Given the description of an element on the screen output the (x, y) to click on. 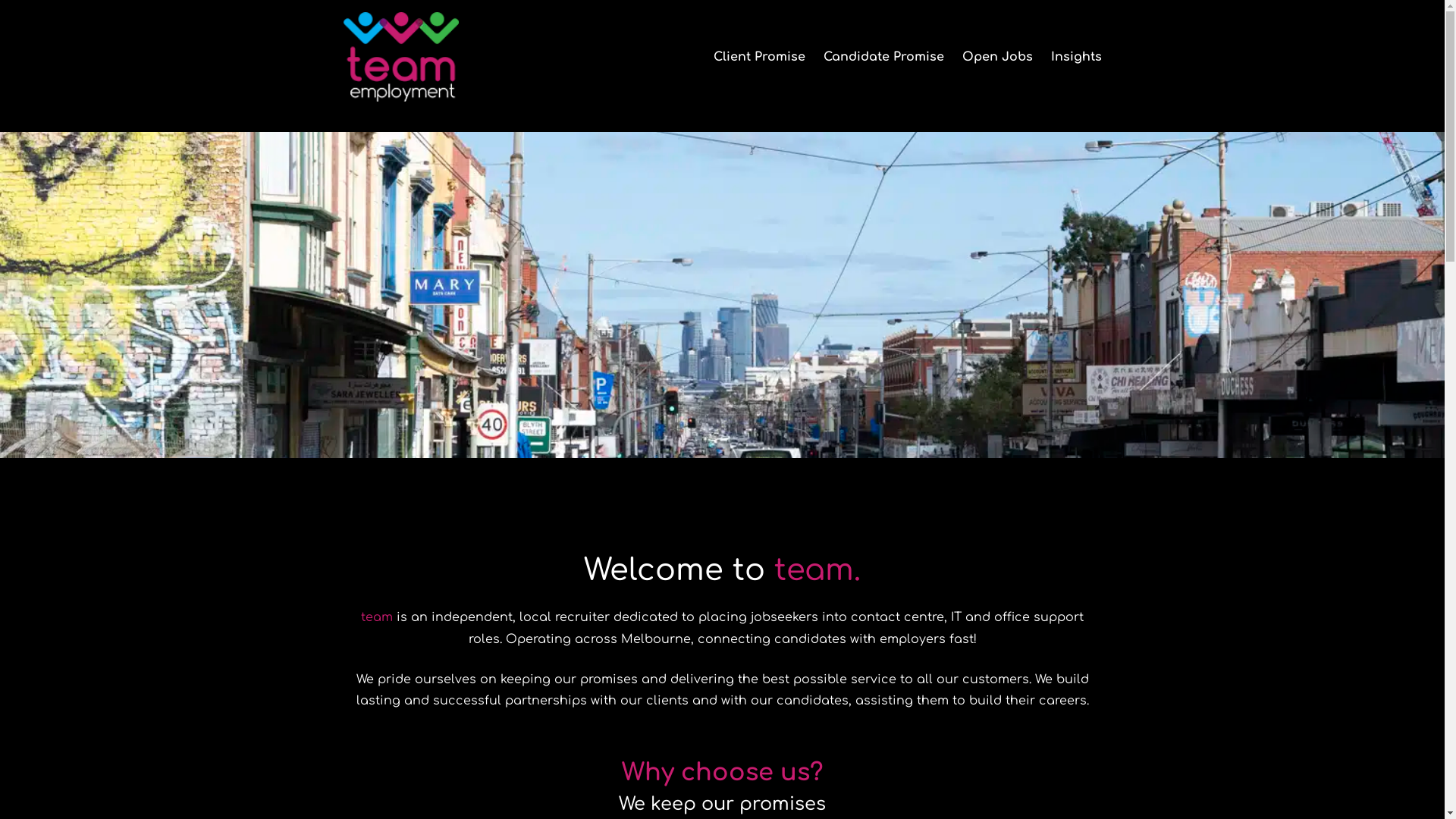
Insights Element type: text (1076, 57)
Open Jobs Element type: text (996, 57)
Candidate Promise Element type: text (883, 57)
Client Promise Element type: text (758, 57)
